Given the description of an element on the screen output the (x, y) to click on. 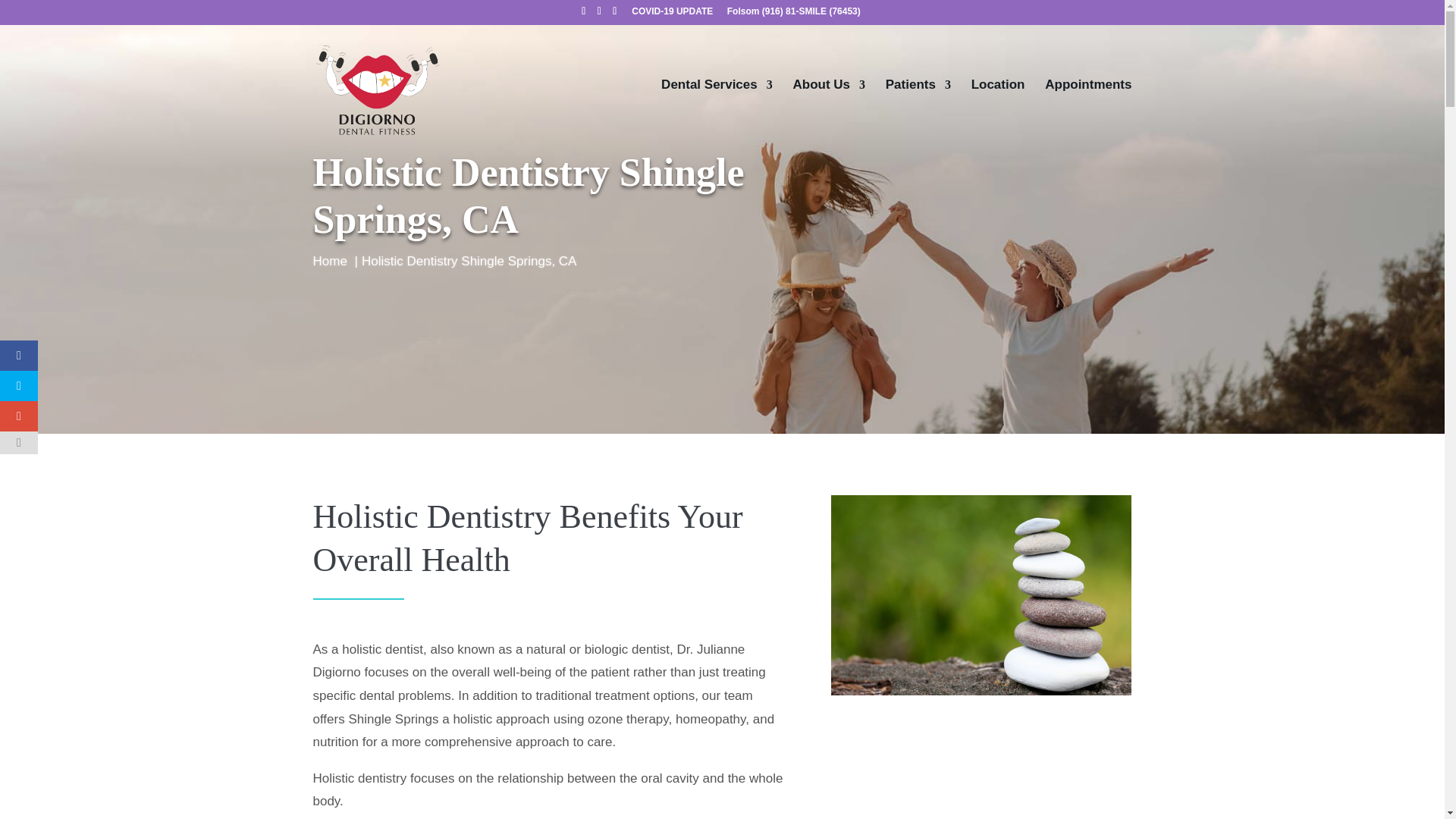
COVID-19 UPDATE (672, 14)
Dental Services (717, 113)
Patients (917, 113)
Appointments (1088, 113)
About Us (828, 113)
